Given the description of an element on the screen output the (x, y) to click on. 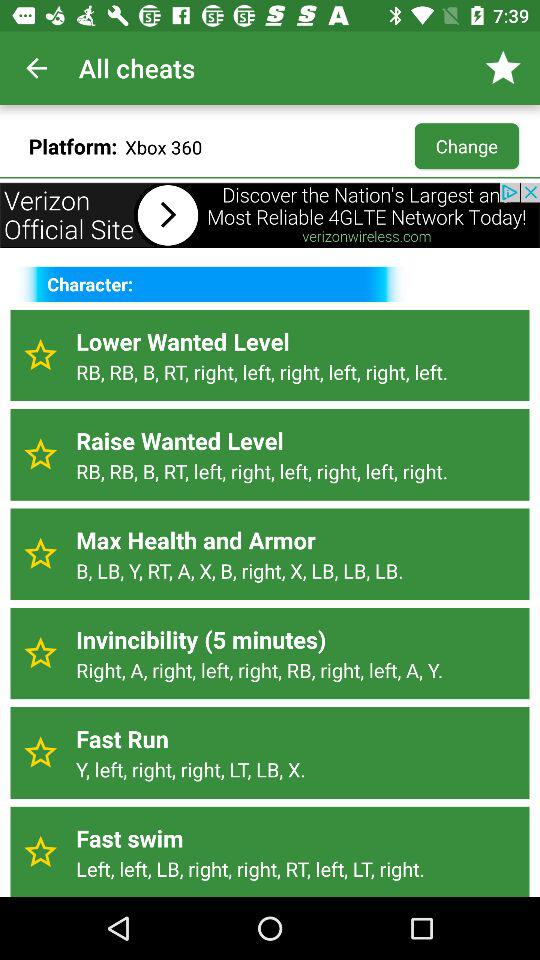
mark as favorite (40, 851)
